Given the description of an element on the screen output the (x, y) to click on. 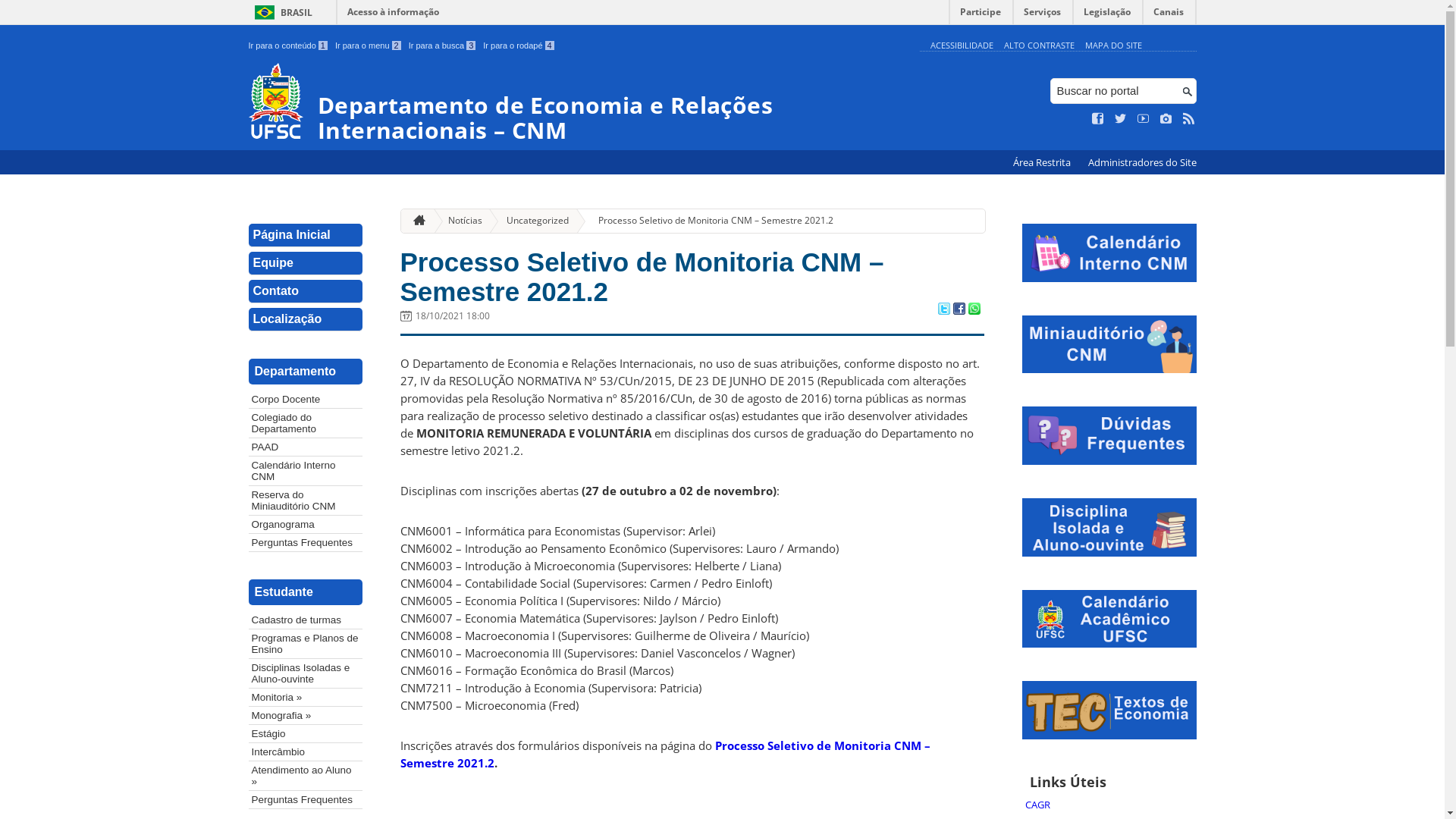
Contato Element type: text (305, 291)
ALTO CONTRASTE Element type: text (1039, 44)
CAGR Element type: text (1109, 804)
Colegiado do Departamento Element type: text (305, 422)
Compartilhar no Twitter Element type: hover (943, 309)
Compartilhar no WhatsApp Element type: hover (973, 309)
ACESSIBILIDADE Element type: text (960, 44)
PAAD Element type: text (305, 446)
Participe Element type: text (980, 15)
Ir para a busca 3 Element type: text (442, 45)
Canais Element type: text (1169, 15)
Compartilhar no Facebook Element type: hover (958, 309)
Siga no Twitter Element type: hover (1120, 118)
Organograma Element type: text (305, 524)
Uncategorized Element type: text (531, 220)
BRASIL Element type: text (280, 12)
Ir para o menu 2 Element type: text (368, 45)
Veja no Instagram Element type: hover (1166, 118)
Programas e Planos de Ensino Element type: text (305, 643)
Perguntas Frequentes Element type: text (305, 799)
Administradores do Site Element type: text (1141, 162)
Curta no Facebook Element type: hover (1098, 118)
Perguntas Frequentes Element type: text (305, 542)
Disciplinas Isoladas e Aluno-ouvinte Element type: text (305, 672)
MAPA DO SITE Element type: text (1112, 44)
Equipe Element type: text (305, 263)
Corpo Docente Element type: text (305, 398)
Cadastro de turmas Element type: text (305, 619)
